Given the description of an element on the screen output the (x, y) to click on. 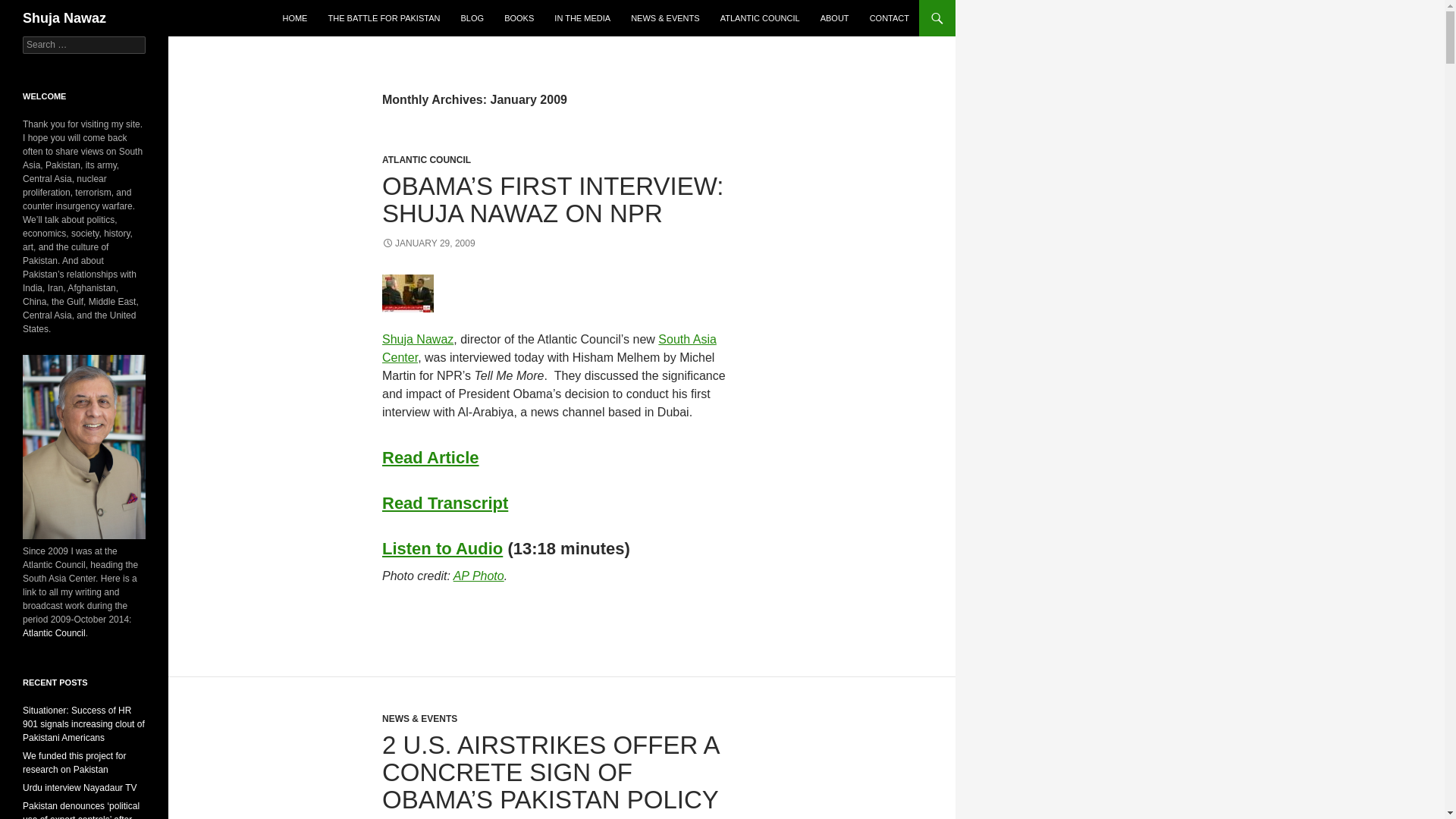
ATLANTIC COUNCIL (760, 18)
South Asia Center (548, 347)
ATLANTIC COUNCIL (425, 159)
BLOG (472, 18)
Read Transcript (444, 502)
Bio - Shuja Nawaz (416, 338)
Shuja Nawaz (64, 18)
President Obama's First TV Interview Draws Scrutiny (444, 502)
Photo from AP Photo (477, 575)
Listen to Audio (441, 547)
BOOKS (519, 18)
President Obama's First TV Interview Draws Scrutiny (441, 547)
Shuja Nawaz (416, 338)
South Asia Center (548, 347)
JANUARY 29, 2009 (428, 243)
